Given the description of an element on the screen output the (x, y) to click on. 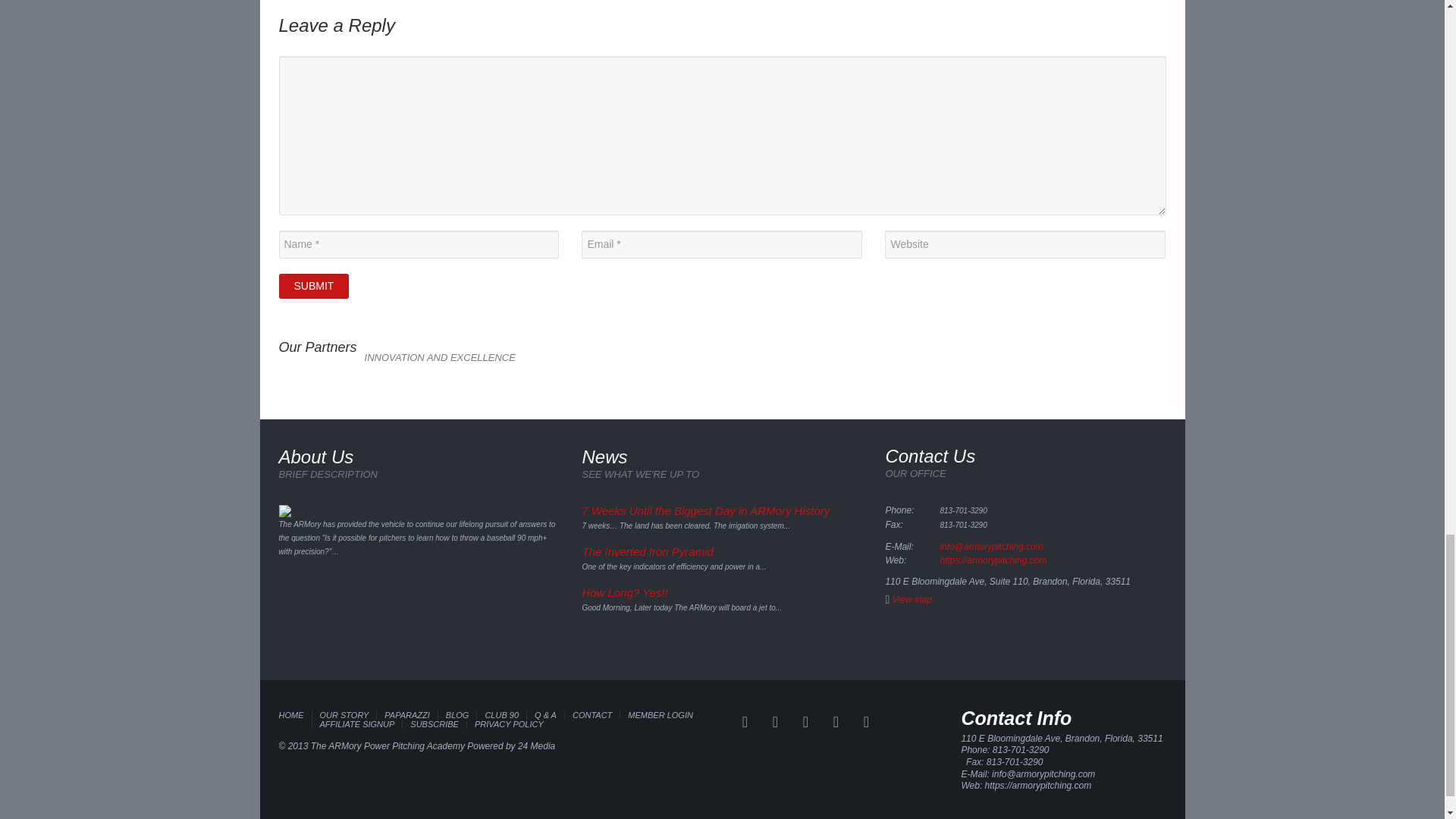
SUBMIT (314, 285)
How Long? Yes!! (623, 592)
The Inverted Iron Pyramid (646, 551)
7 Weeks Until the Biggest Day in ARMory History (704, 510)
